Given the description of an element on the screen output the (x, y) to click on. 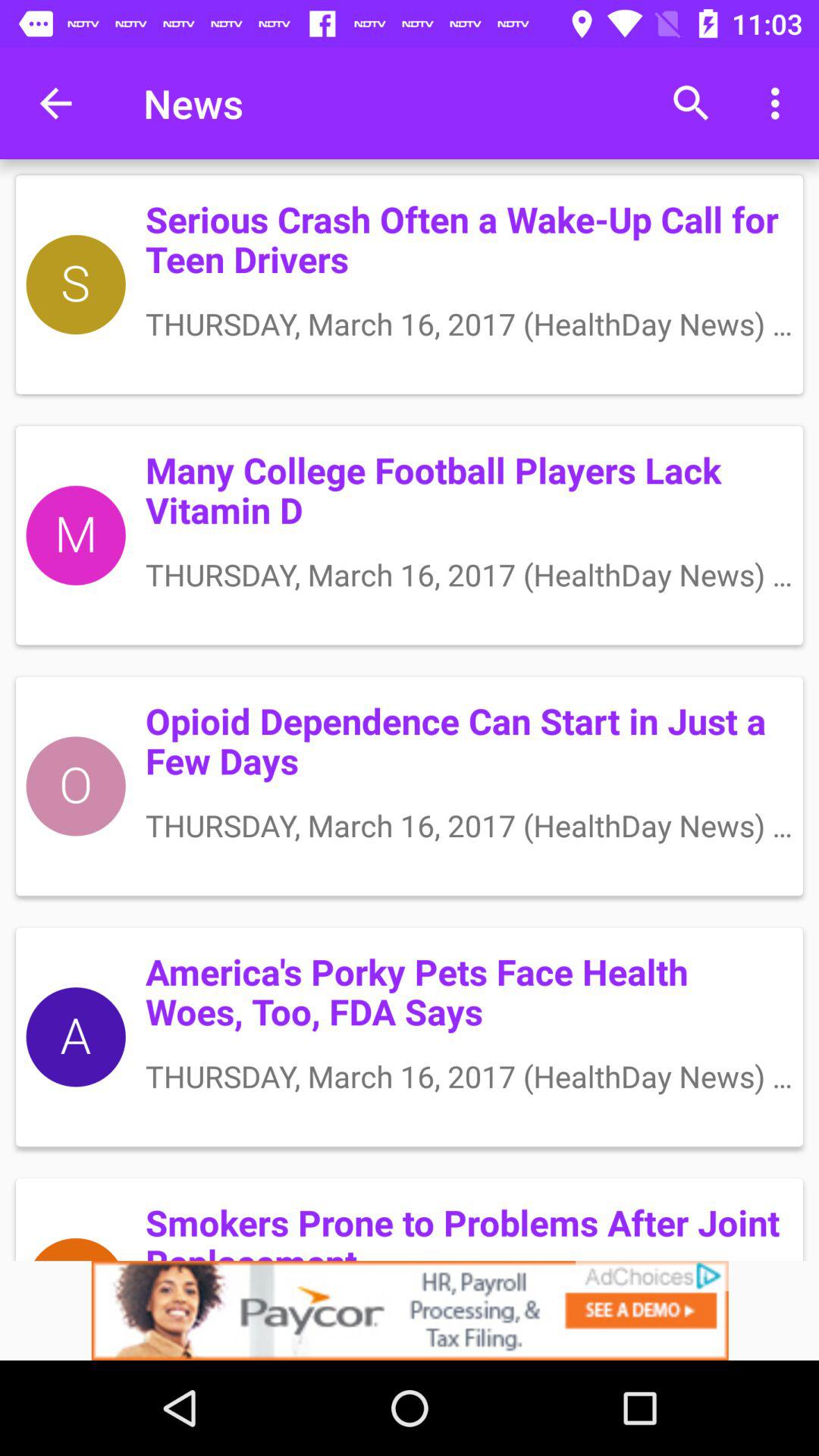
click discriiption (409, 1310)
